Given the description of an element on the screen output the (x, y) to click on. 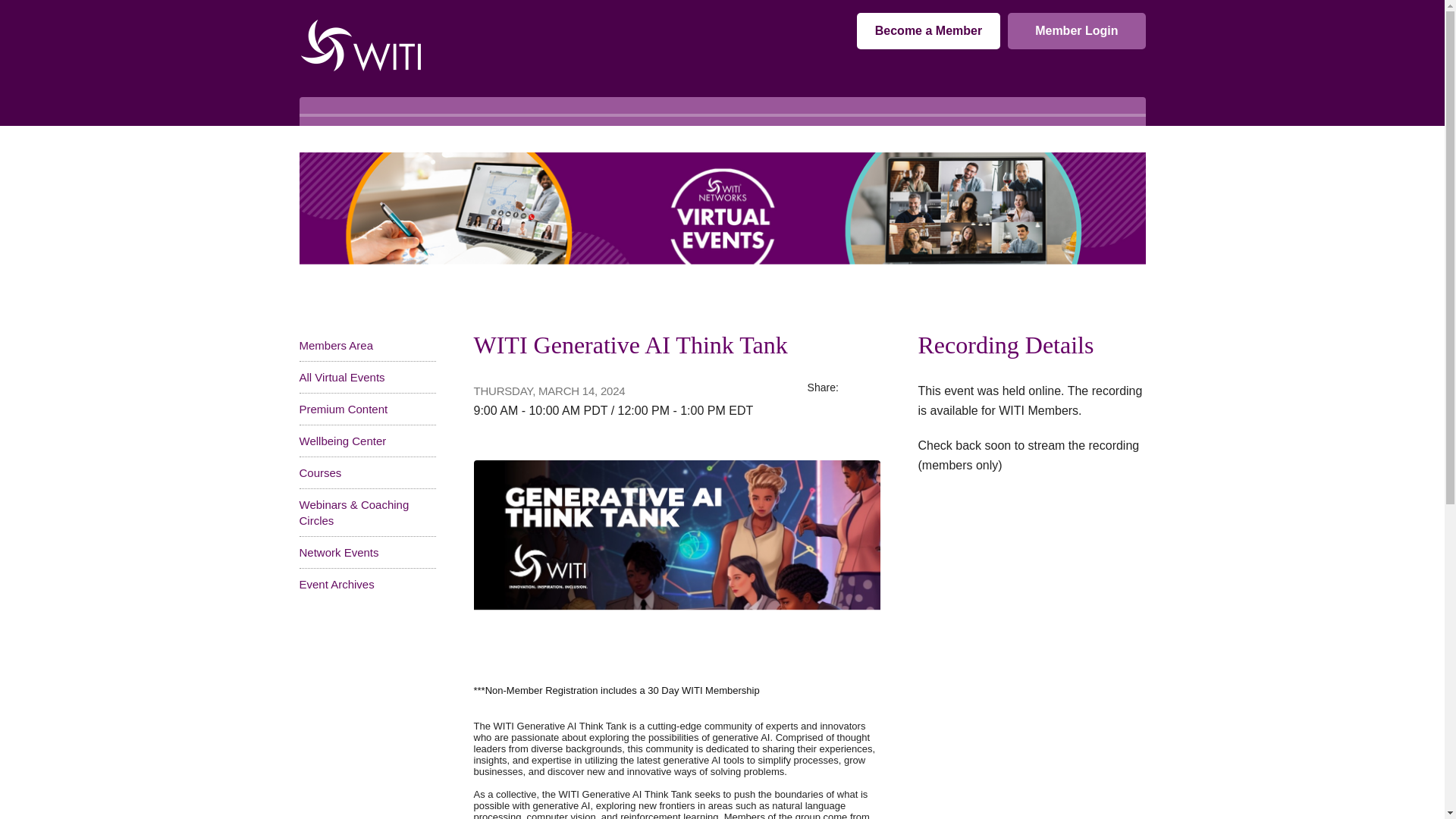
All Virtual Events (341, 377)
Become a Member (928, 31)
Event Archives (336, 584)
Wellbeing Center (341, 440)
Members Area (335, 345)
Courses (319, 472)
Network Events (338, 552)
Member Login (1075, 31)
Premium Content (342, 408)
Workforce Innovation, Trust, and Influence (359, 45)
